Given the description of an element on the screen output the (x, y) to click on. 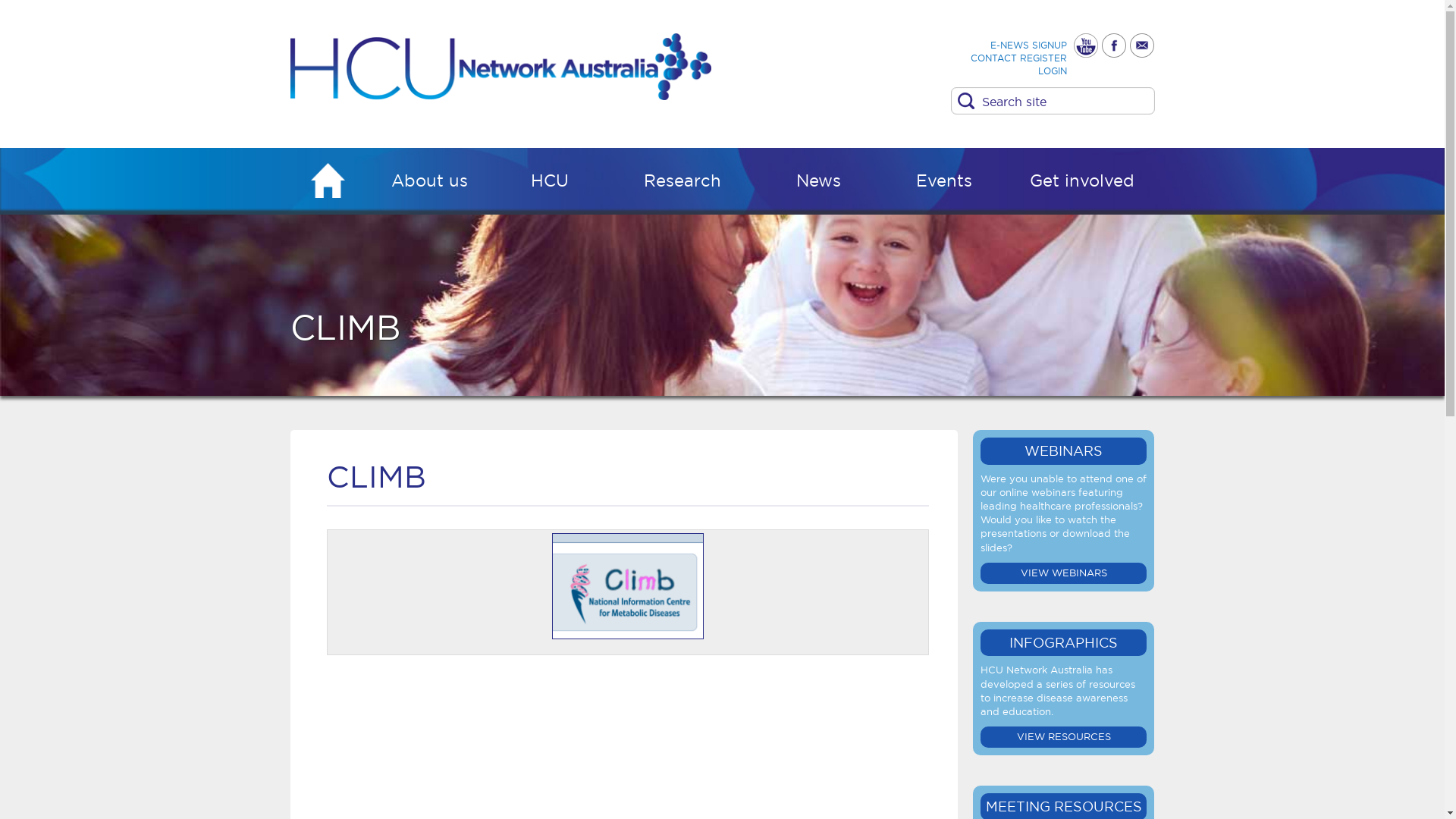
CONTACT REGISTER Element type: text (1018, 57)
News Element type: text (818, 183)
Events Element type: text (944, 183)
VIEW WEBINARS Element type: text (1063, 572)
About us Element type: text (429, 183)
Get involved Element type: text (1082, 183)
LOGIN Element type: text (1052, 70)
E-NEWS SIGNUP Element type: text (1028, 45)
VIEW RESOURCES Element type: text (1063, 736)
HCU Element type: text (549, 183)
Research Element type: text (682, 183)
